Given the description of an element on the screen output the (x, y) to click on. 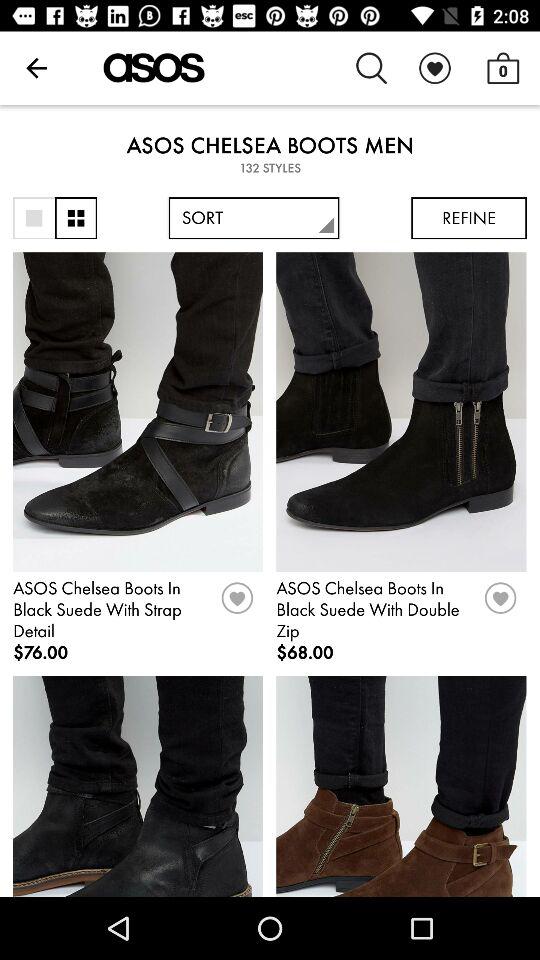
more information (76, 218)
